Given the description of an element on the screen output the (x, y) to click on. 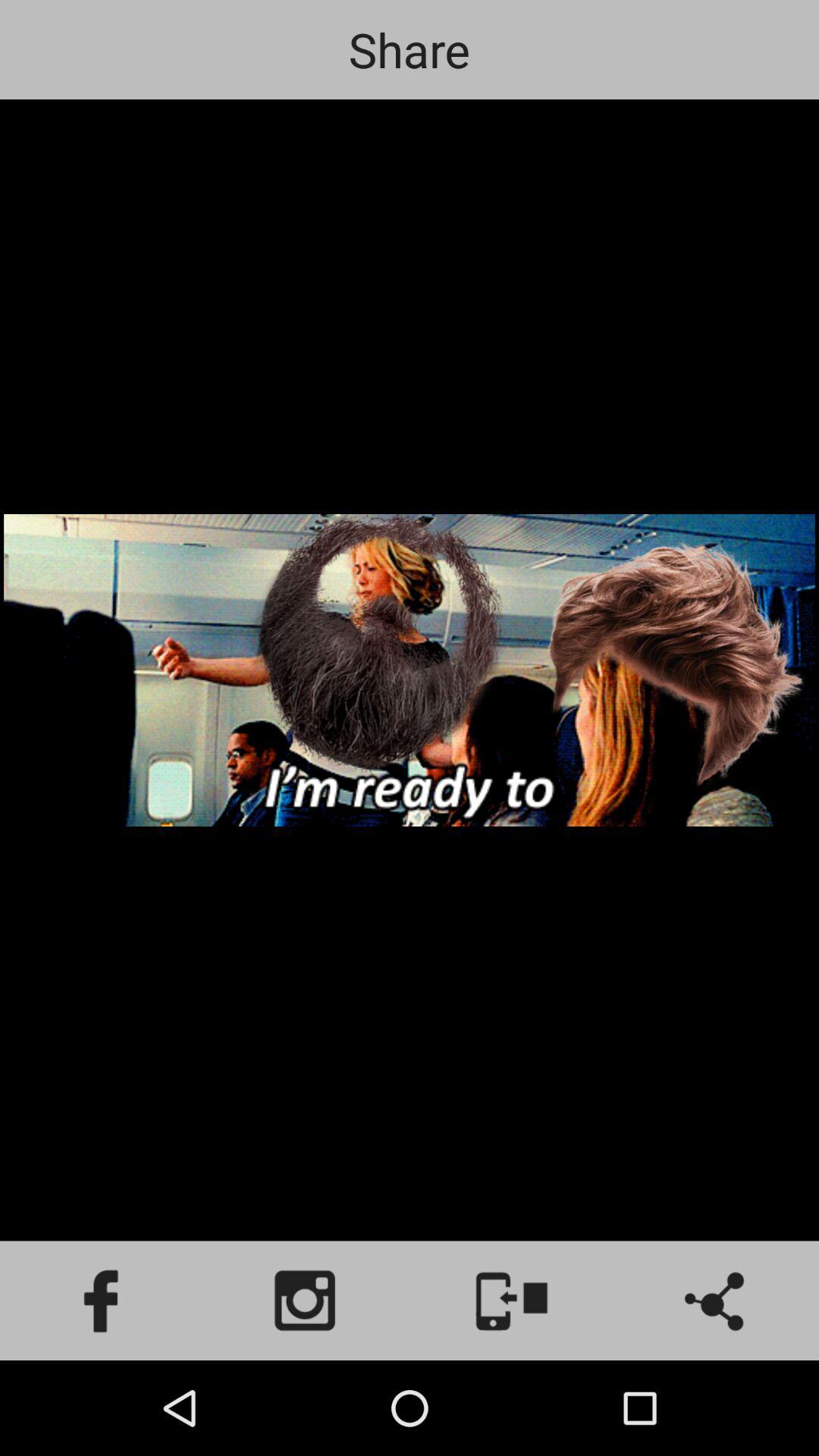
share to phone (511, 1300)
